Given the description of an element on the screen output the (x, y) to click on. 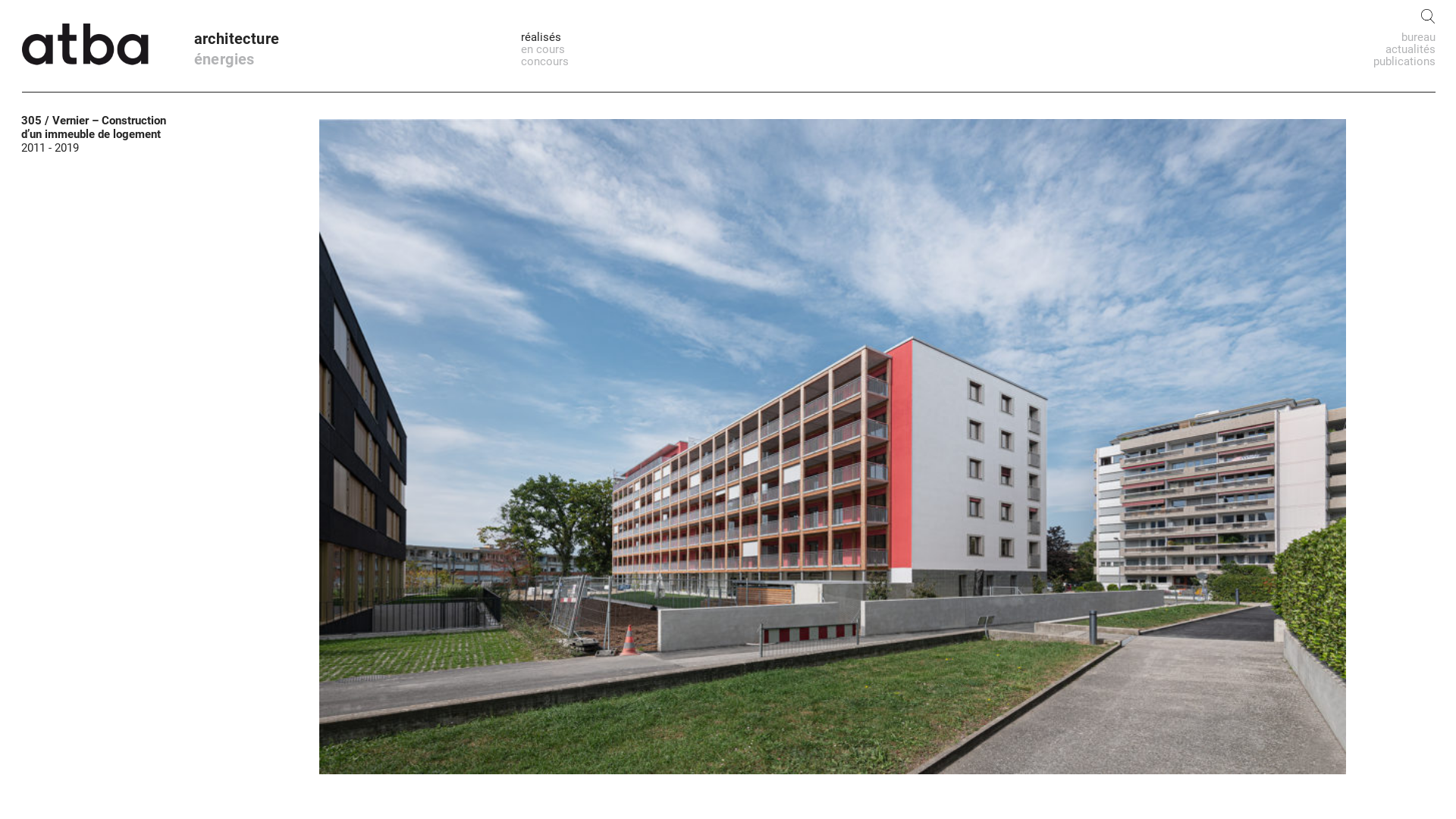
publications Element type: text (1404, 61)
architecture Element type: text (236, 38)
bureau Element type: text (1418, 36)
concours Element type: text (544, 61)
en cours Element type: text (542, 49)
